Given the description of an element on the screen output the (x, y) to click on. 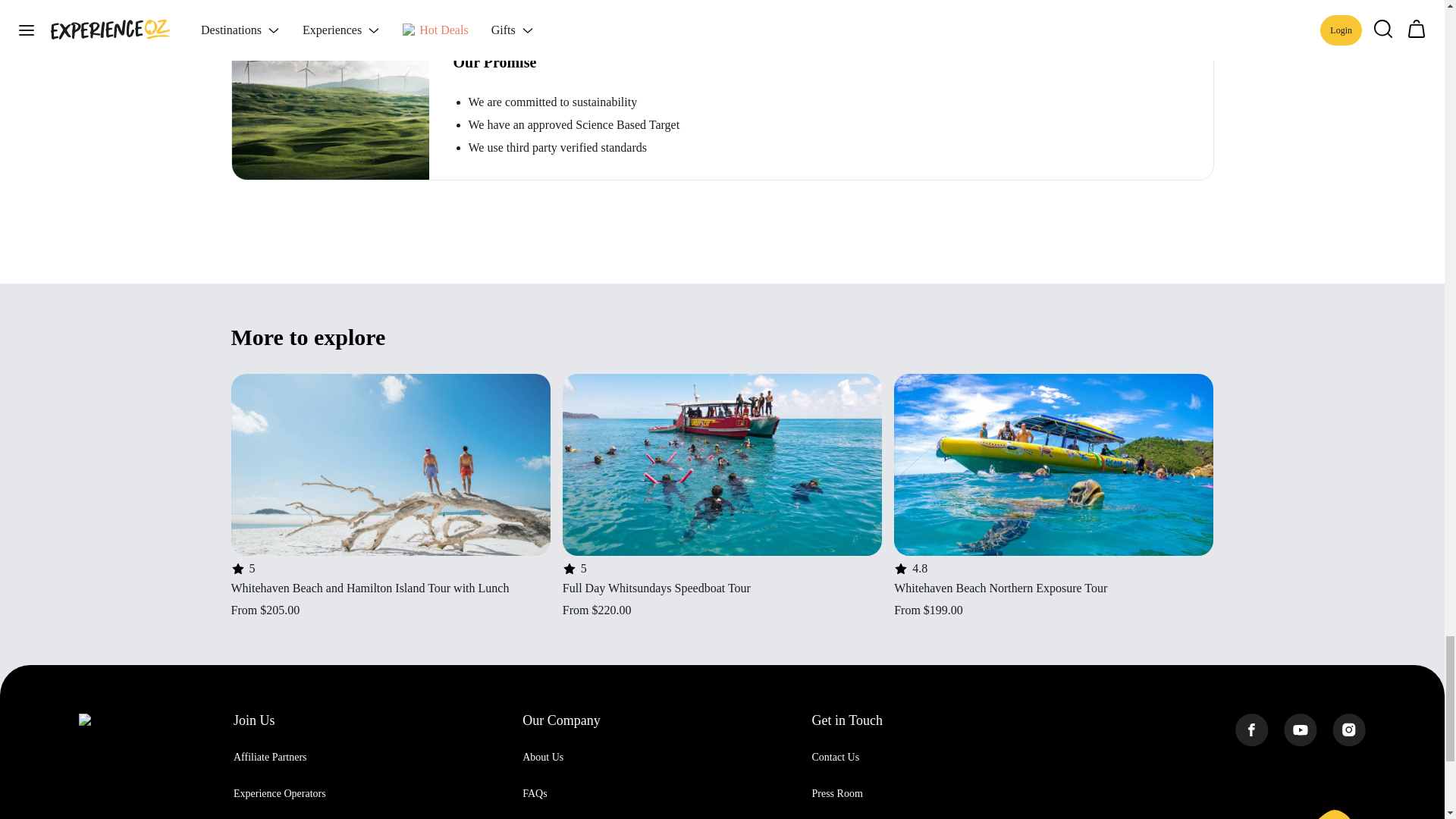
Experience Operators (279, 793)
Affiliate Partners (269, 756)
About Us (542, 756)
FAQs (534, 793)
